Given the description of an element on the screen output the (x, y) to click on. 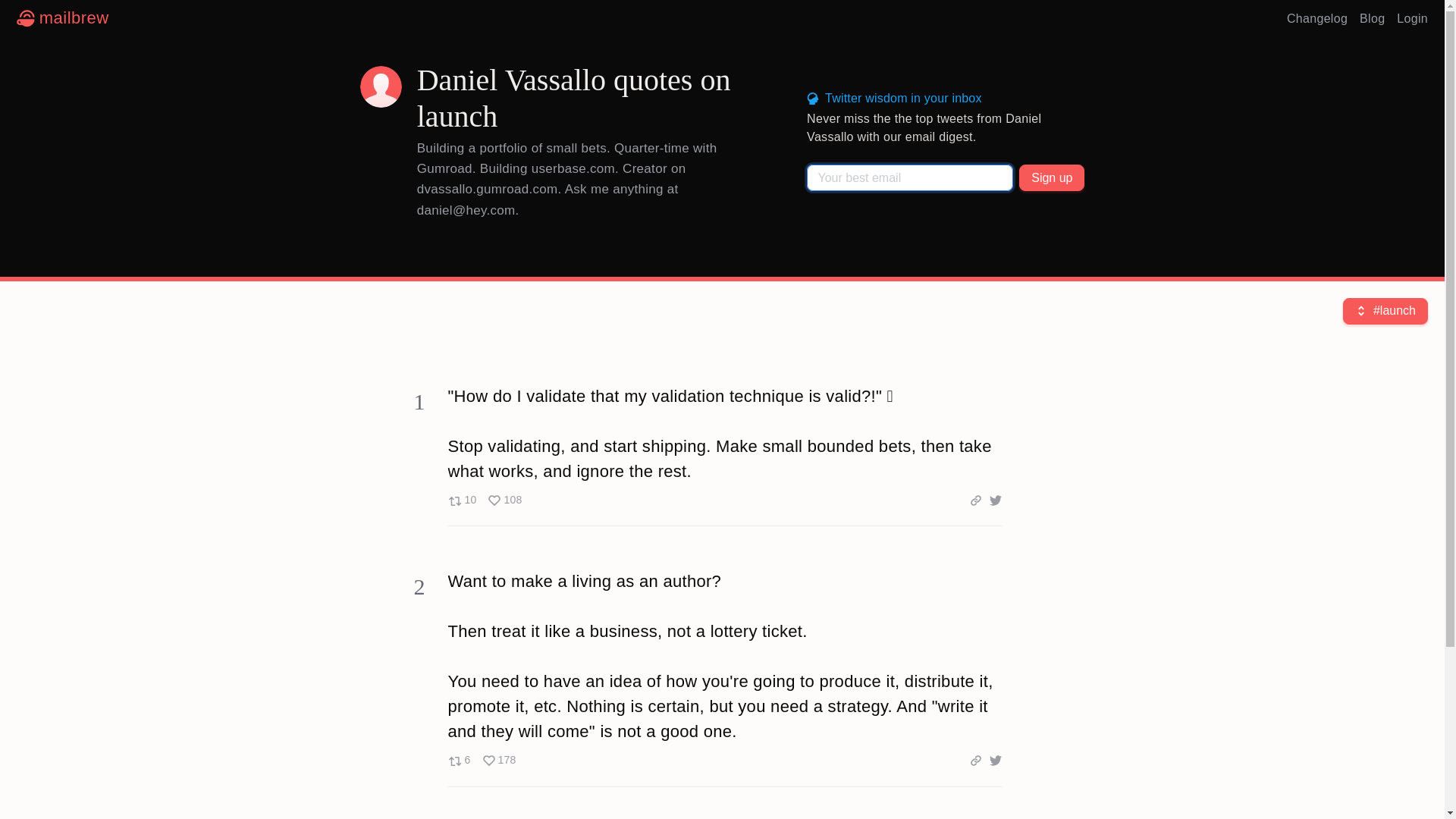
Sign up (480, 760)
Blog (1051, 177)
Login (1371, 18)
mailbrew (1412, 18)
Changelog (62, 18)
